Given the description of an element on the screen output the (x, y) to click on. 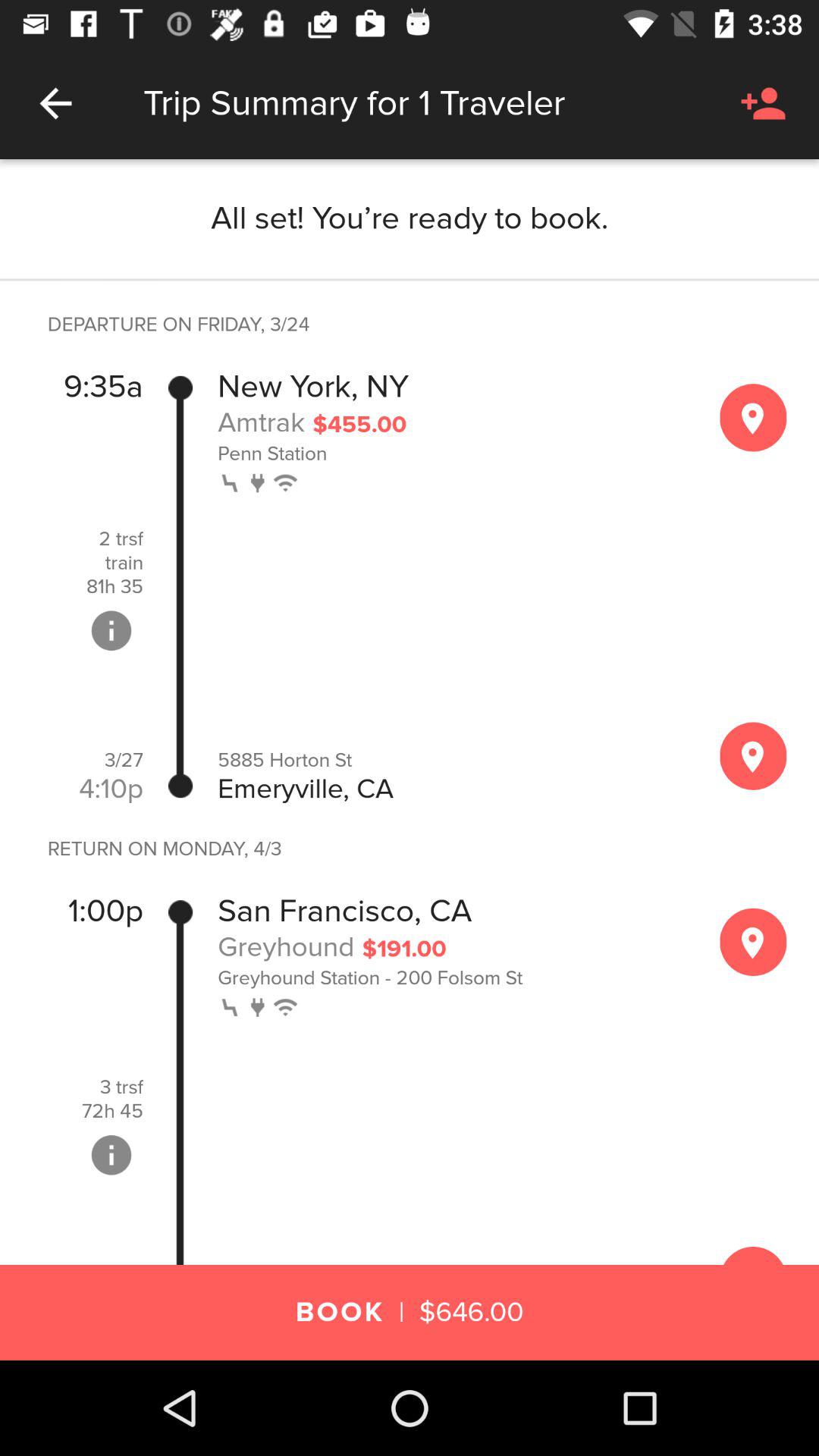
click the 5885 horton st item (452, 760)
